Given the description of an element on the screen output the (x, y) to click on. 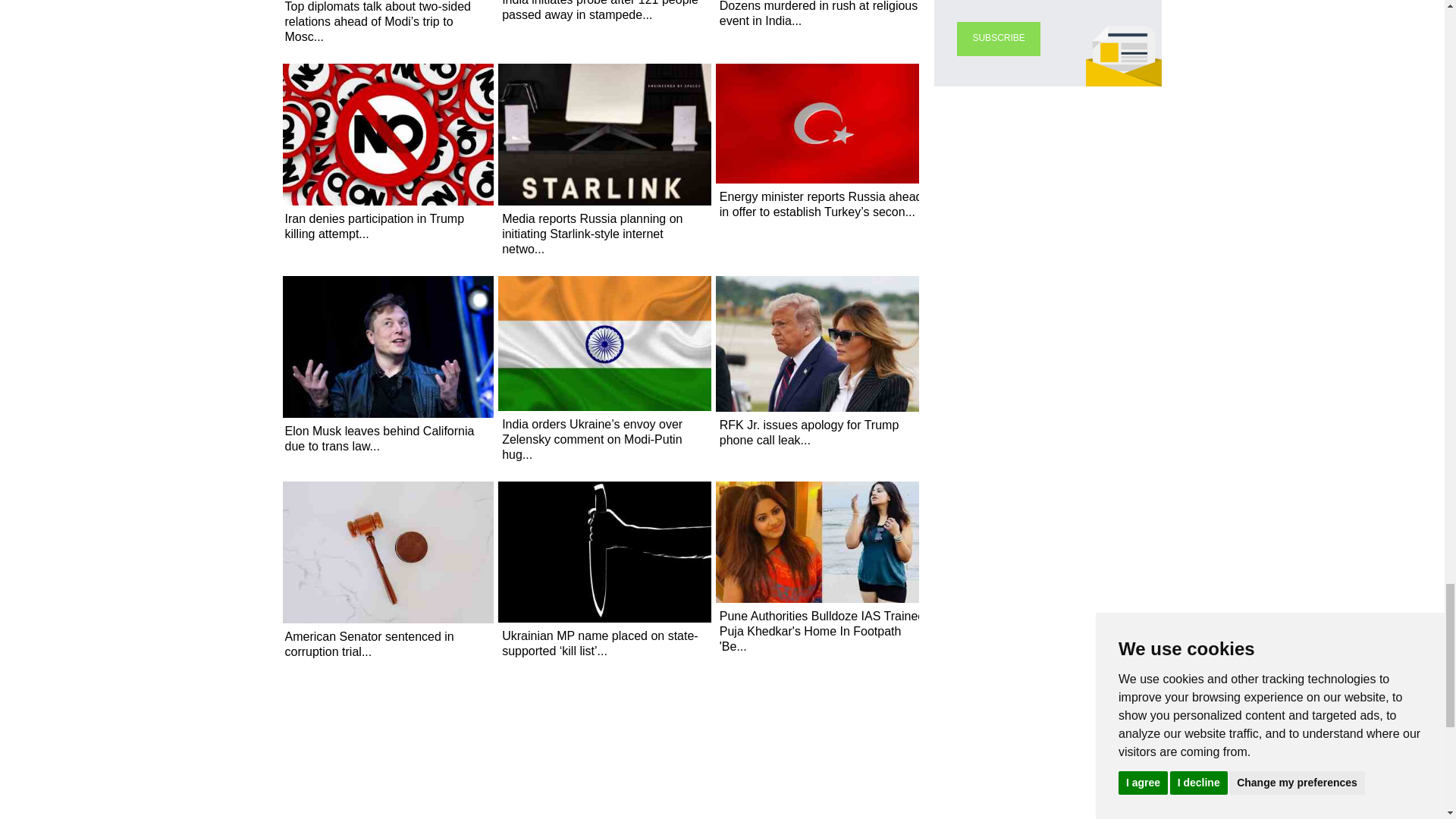
Advertisement (721, 788)
Subscribe (997, 39)
